Given the description of an element on the screen output the (x, y) to click on. 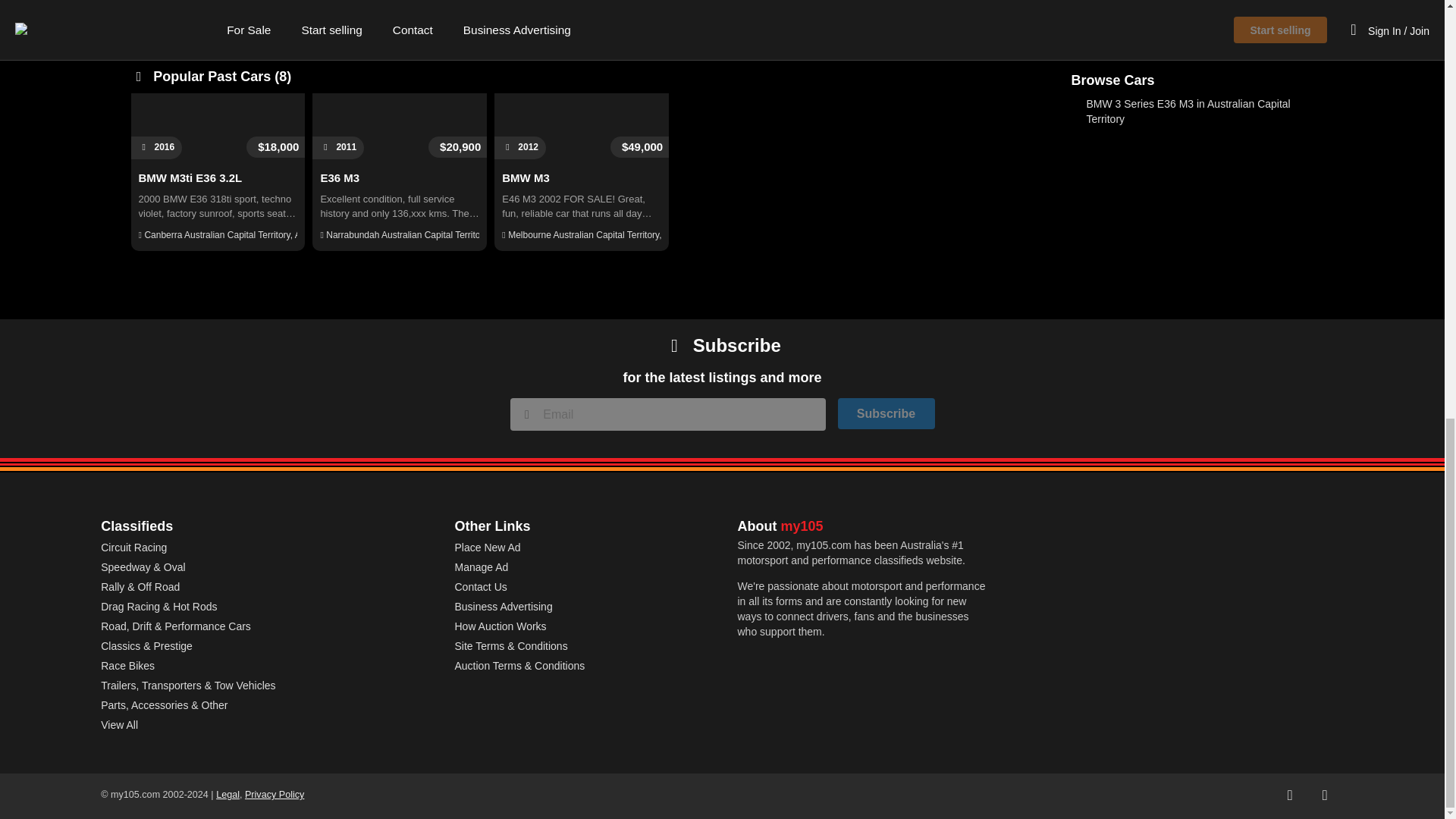
BMW in Australian Capital Territory (1152, 5)
Subscribe (885, 413)
BMW 3 Series E36 in Australian Capital Territory (1179, 76)
BMW 3 Series in Australian Capital Territory (1181, 46)
BMW 3 Series E36 M3 in Australian Capital Territory (1188, 111)
Circuit Racing (133, 547)
BMW 1 Series in Australian Capital Territory (1181, 28)
